Given the description of an element on the screen output the (x, y) to click on. 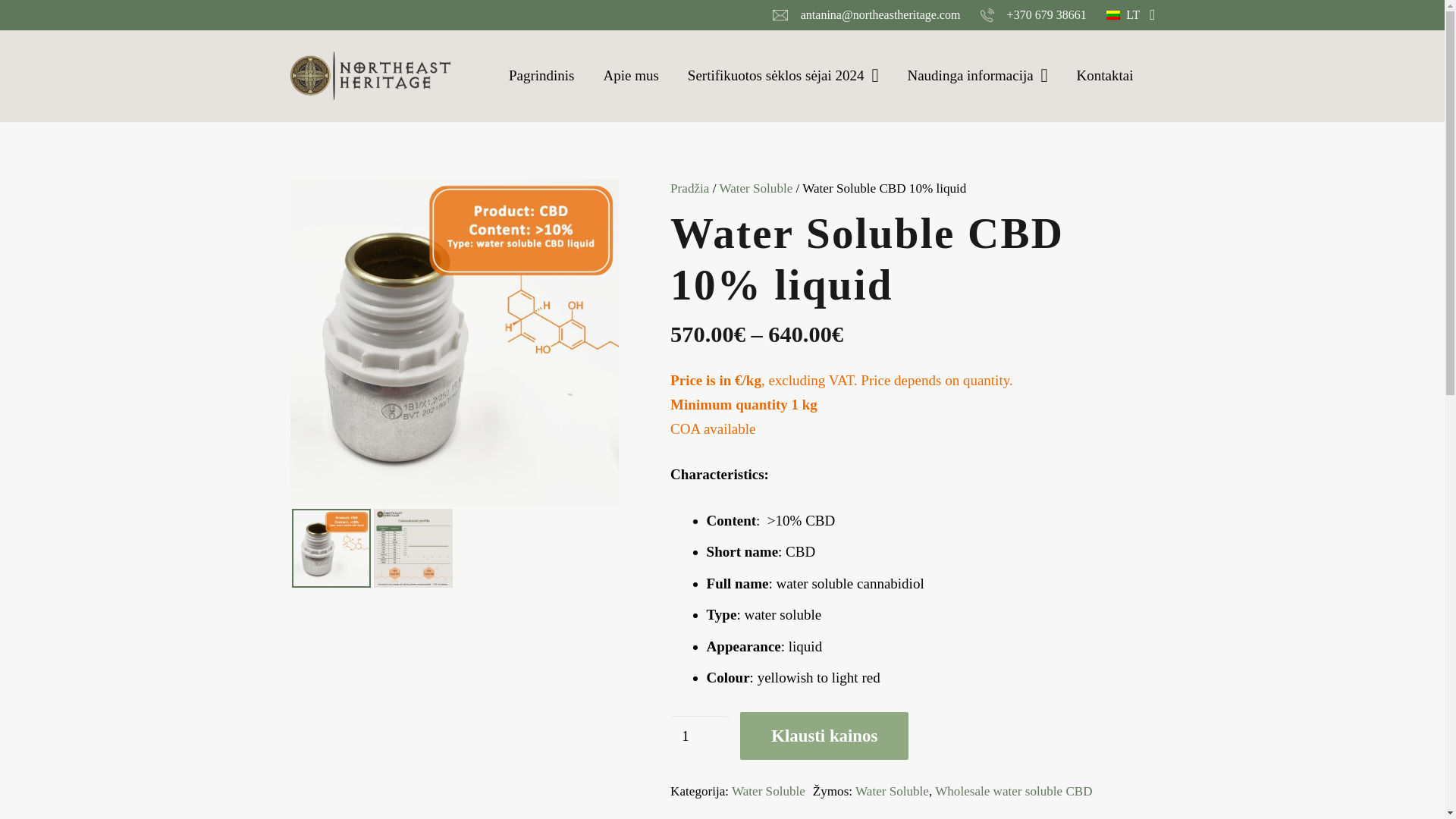
Pagrindinis (541, 75)
LT (1130, 15)
Naudinga informacija (976, 75)
Apie mus (630, 75)
Klausti kainos (823, 735)
Water Soluble (755, 187)
Wholesale water soluble CBD (1013, 790)
1 (699, 735)
Water soluble CBD 10 liquid (453, 342)
Water Soluble (768, 790)
Water Soluble (892, 790)
Kontaktai (1104, 75)
